Given the description of an element on the screen output the (x, y) to click on. 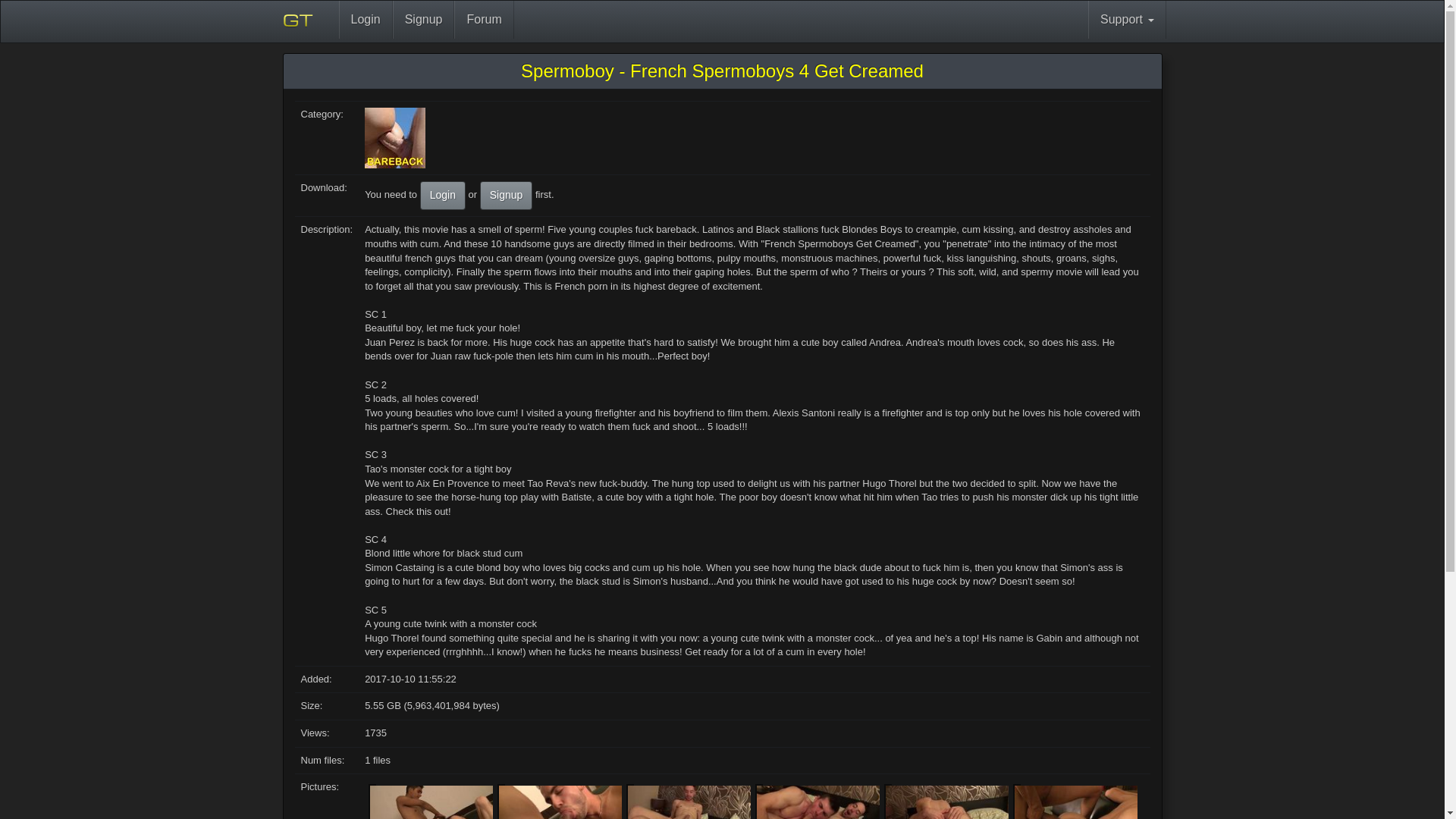
Forum (483, 19)
Support (1126, 19)
Signup (423, 19)
Signup (506, 194)
Login (442, 194)
Login (364, 19)
